Given the description of an element on the screen output the (x, y) to click on. 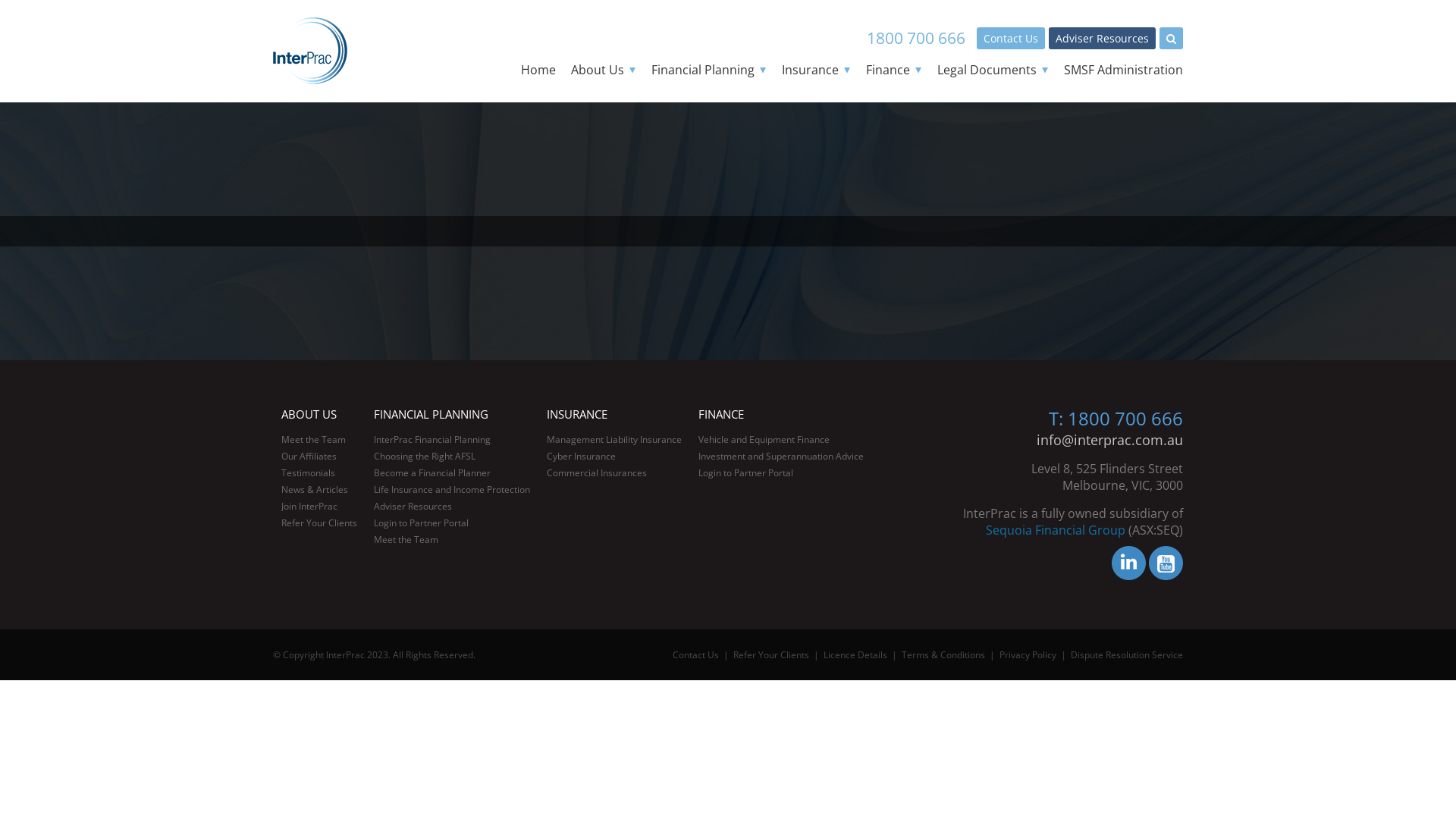
Contact Us Element type: text (695, 654)
SMSF Administration Element type: text (1123, 69)
info@interprac.com.au Element type: text (1109, 439)
T: 1800 700 666 Element type: text (1115, 417)
Privacy Policy Element type: text (1027, 654)
FINANCIAL PLANNING Element type: text (430, 413)
Meet the Team Element type: text (405, 539)
FINANCE Element type: text (720, 413)
Contact Us Element type: text (1010, 38)
News & Articles Element type: text (314, 489)
Choosing the Right AFSL Element type: text (424, 455)
Join InterPrac Element type: text (309, 505)
Terms & Conditions Element type: text (943, 654)
Meet the Team Element type: text (313, 439)
Legal Documents Element type: text (992, 69)
Finance Element type: text (894, 69)
Dispute Resolution Service Element type: text (1126, 654)
InterPrac Financial Planning Element type: text (431, 439)
Login to Partner Portal Element type: text (420, 522)
Licence Details Element type: text (855, 654)
INSURANCE Element type: text (576, 413)
Cyber Insurance Element type: text (580, 455)
About Us Element type: text (603, 69)
Testimonials Element type: text (308, 472)
Insurance Element type: text (815, 69)
Vehicle and Equipment Finance Element type: text (763, 439)
Adviser Resources Element type: text (1101, 38)
ABOUT US Element type: text (308, 413)
Commercial Insurances Element type: text (596, 472)
Management Liability Insurance Element type: text (613, 439)
1800 700 666 Element type: text (915, 37)
Adviser Resources Element type: text (412, 505)
Refer Your Clients Element type: text (319, 522)
Become a Financial Planner Element type: text (431, 472)
Login to Partner Portal Element type: text (745, 472)
Sequoia Financial Group Element type: text (1055, 529)
Life Insurance and Income Protection Element type: text (451, 489)
Our Affiliates Element type: text (308, 455)
Investment and Superannuation Advice Element type: text (780, 455)
Financial Planning Element type: text (708, 69)
Home Element type: text (537, 69)
Refer Your Clients Element type: text (771, 654)
